Given the description of an element on the screen output the (x, y) to click on. 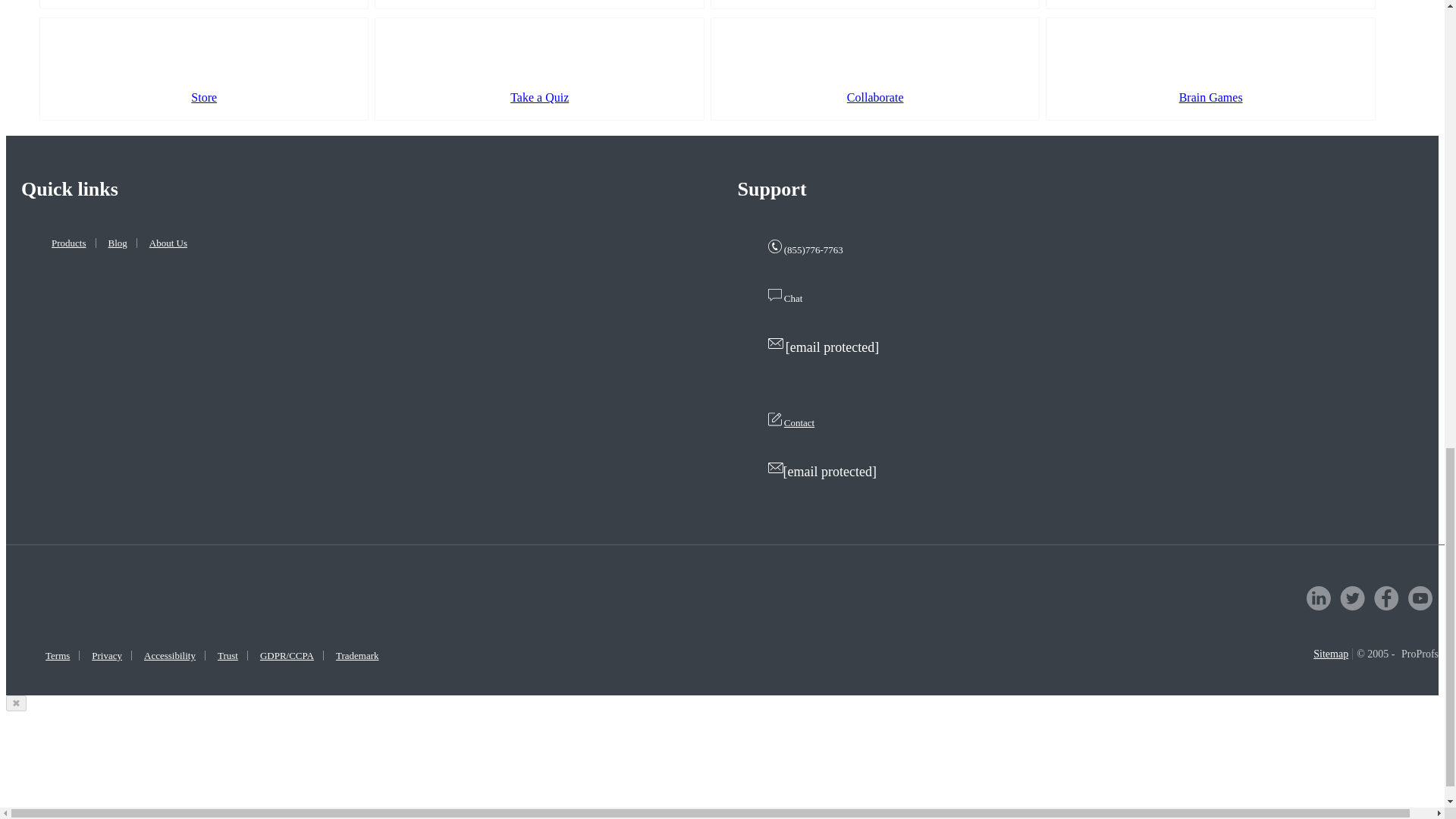
Help Desk (874, 4)
Follow us on Youtube (1419, 598)
Follow us on linkedIn (1318, 598)
Follow us on twitter (1352, 598)
Follow us on facebook (1386, 598)
Take a Quiz (538, 68)
Collaborate (874, 68)
chat (773, 295)
contact (773, 418)
Store (203, 68)
Live Chat (538, 4)
mail (775, 468)
Project (203, 4)
Discuss (1209, 4)
call (773, 246)
